Given the description of an element on the screen output the (x, y) to click on. 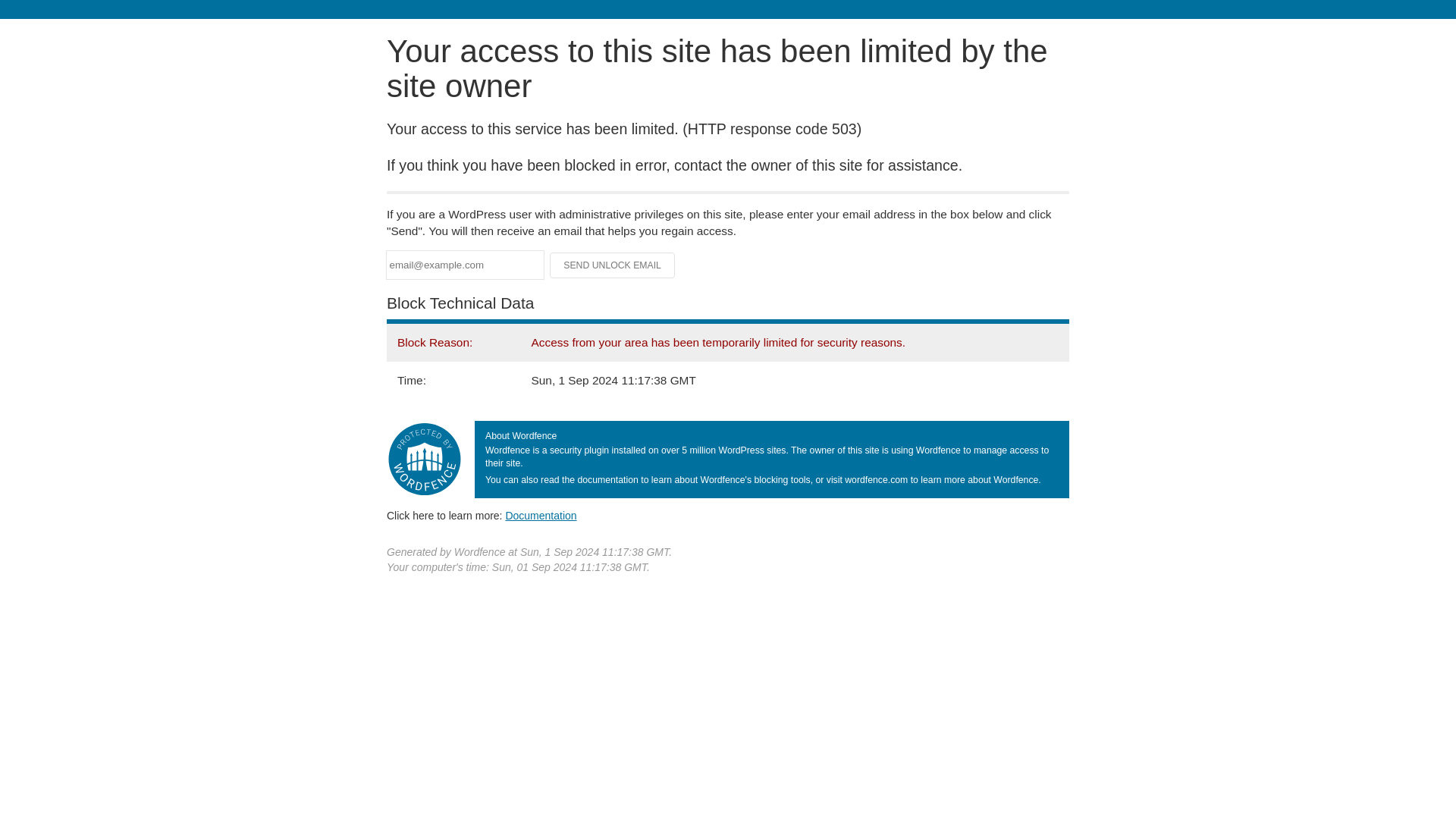
Send Unlock Email (612, 265)
Documentation (540, 515)
Send Unlock Email (612, 265)
